Given the description of an element on the screen output the (x, y) to click on. 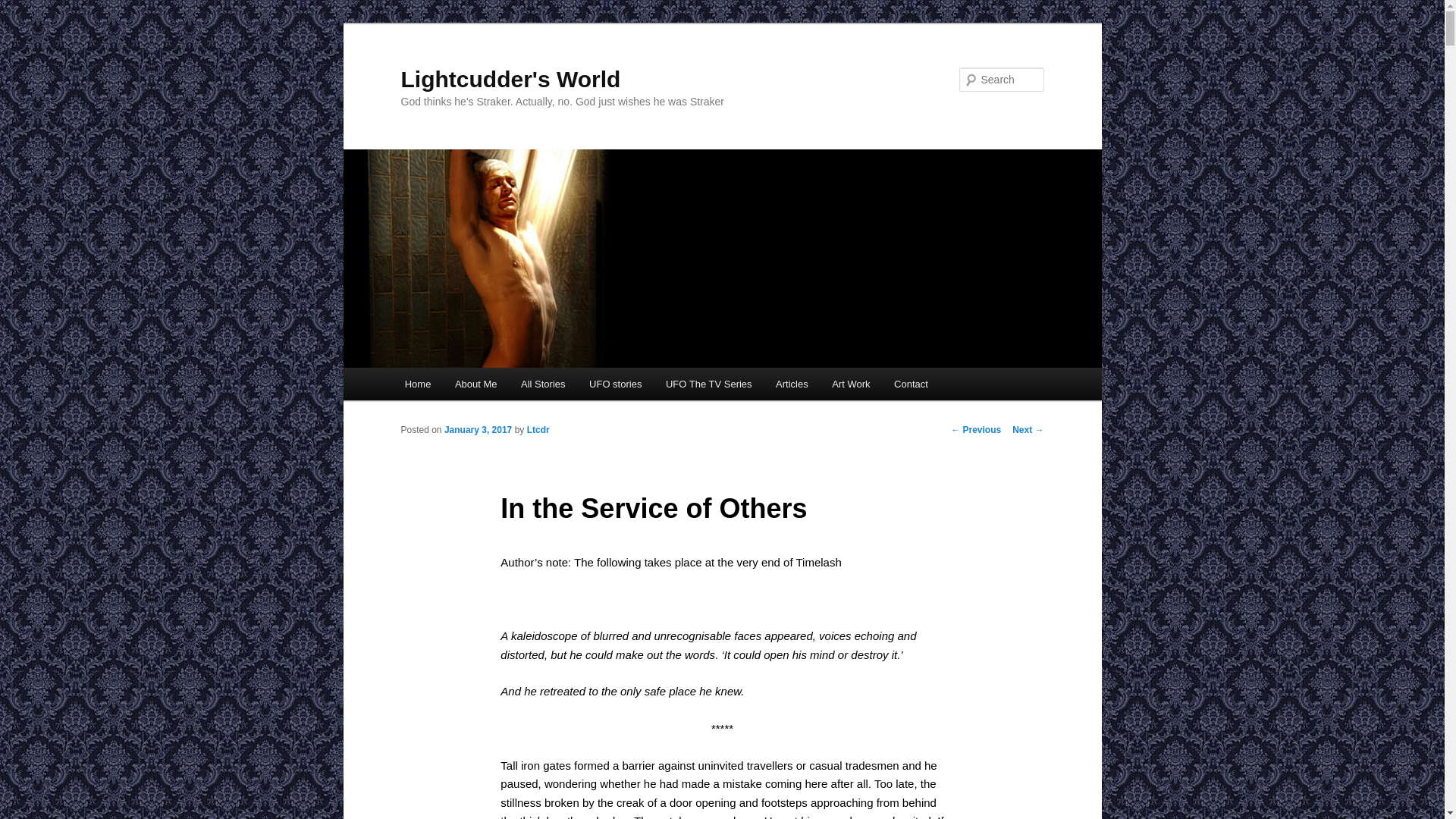
Art Work (850, 383)
11:47 am (478, 429)
Ltcdr (538, 429)
UFO The TV Series (707, 383)
View all posts by Ltcdr (538, 429)
Contact (910, 383)
All Stories (542, 383)
January 3, 2017 (478, 429)
About Me (475, 383)
Search (24, 8)
UFO stories (614, 383)
Lightcudder's World (510, 78)
Home (417, 383)
Articles (790, 383)
